Given the description of an element on the screen output the (x, y) to click on. 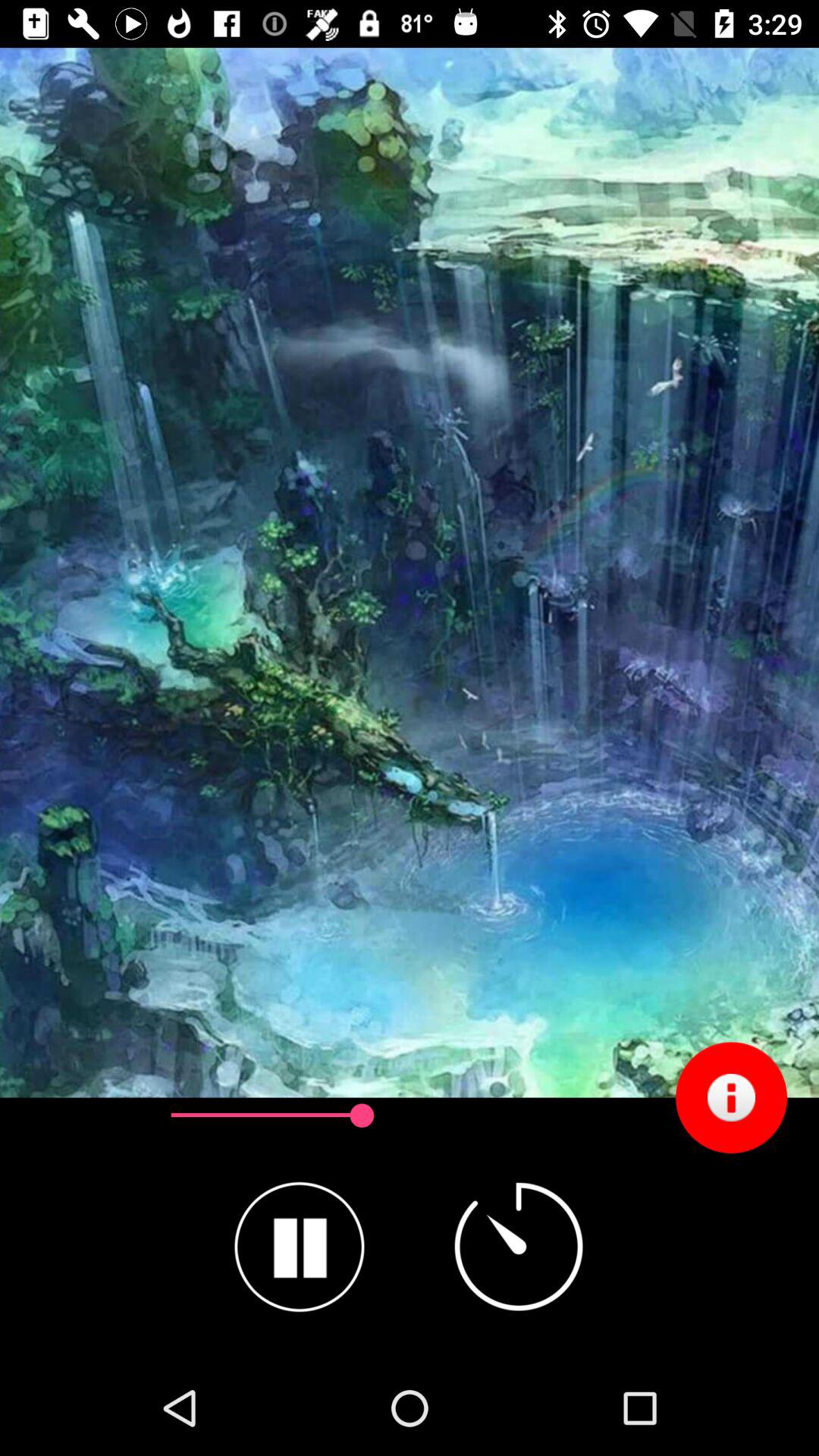
tap the item at the bottom right corner (731, 1097)
